Given the description of an element on the screen output the (x, y) to click on. 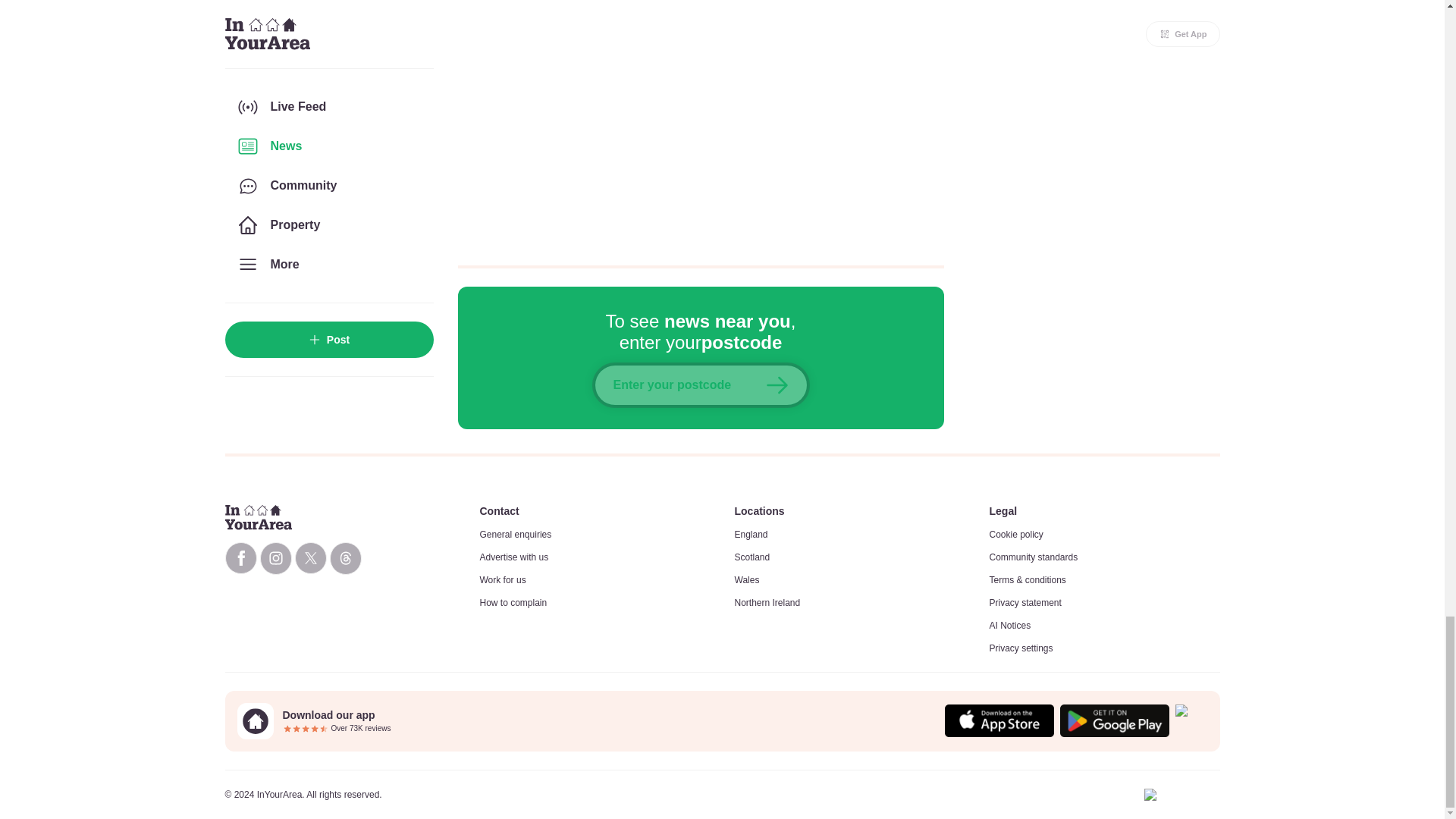
InYourArea Instagram (275, 558)
InYourArea Threads (345, 558)
InYourArea Facebook (240, 558)
comments (701, 122)
InYourArea X (310, 558)
